Given the description of an element on the screen output the (x, y) to click on. 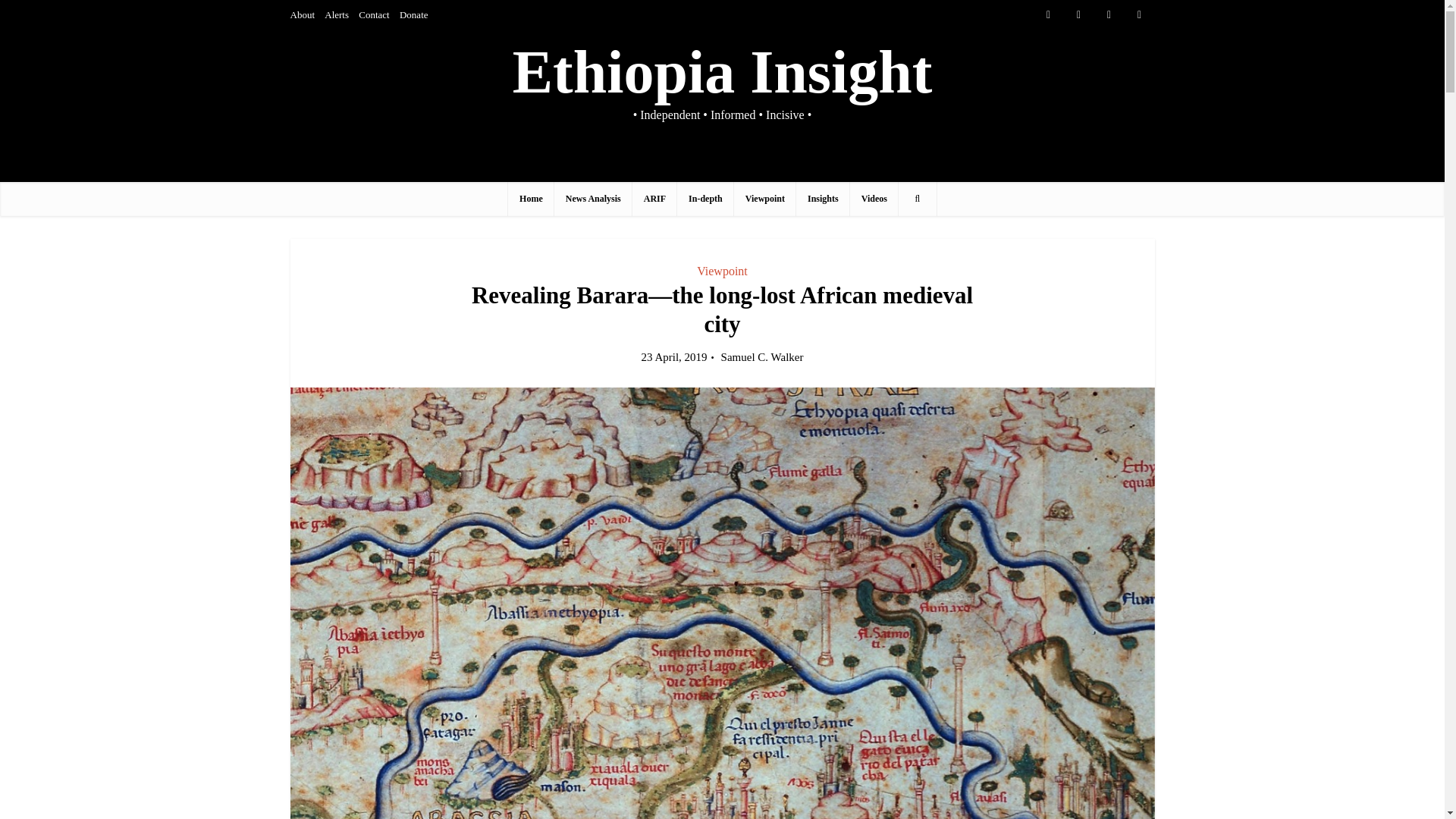
Videos (874, 198)
About (301, 14)
News Analysis (592, 198)
Viewpoint (764, 198)
Insights (823, 198)
ARIF (654, 198)
In-depth (705, 198)
Ethiopia Insight (722, 71)
Samuel C. Walker (761, 357)
Home (531, 198)
